Given the description of an element on the screen output the (x, y) to click on. 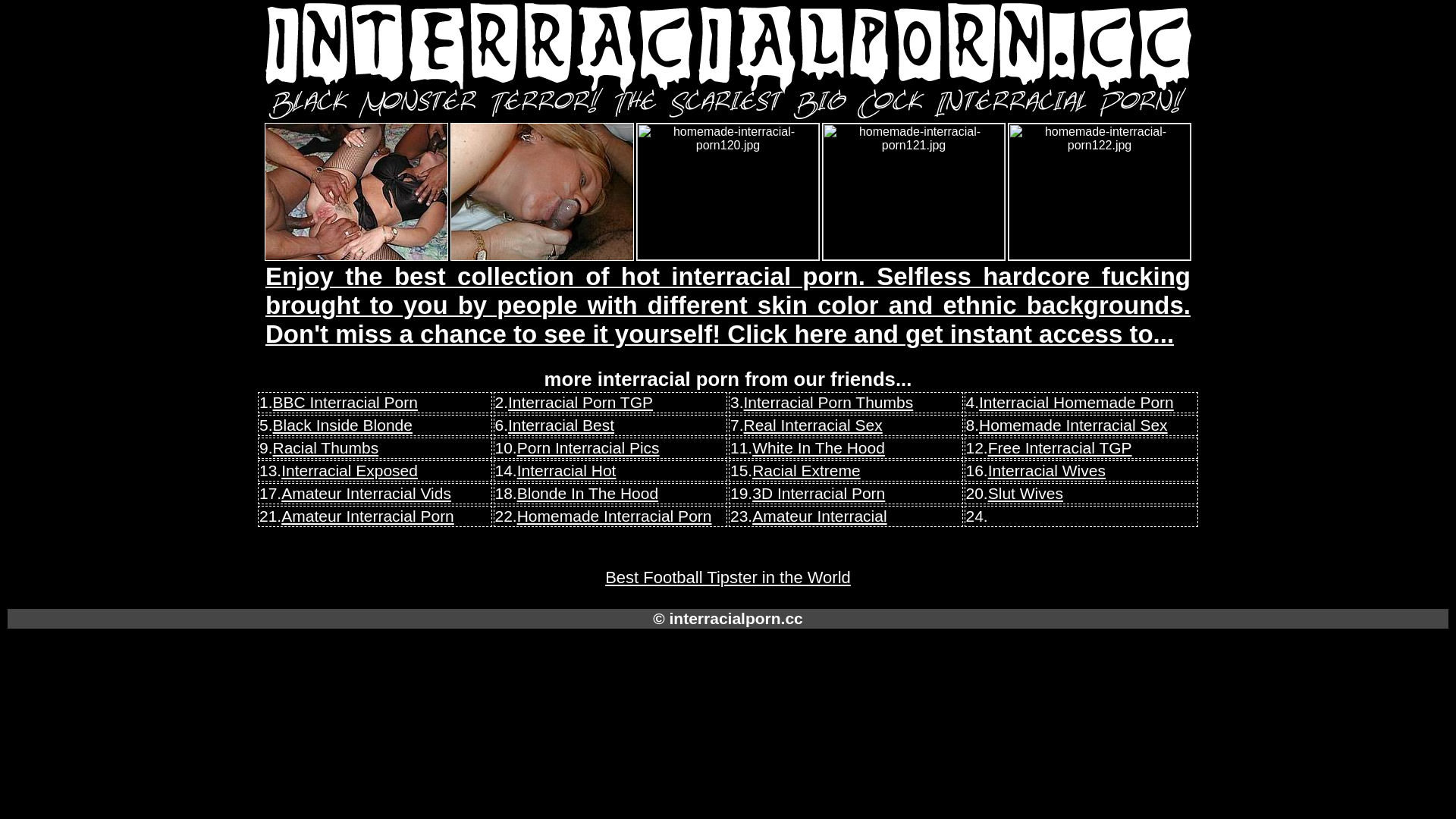
Racial Extreme Element type: text (805, 470)
Real Interracial Sex Element type: text (812, 424)
Interracial Best Element type: text (561, 424)
Interracial Wives Element type: text (1046, 470)
Interracial Porn TGP Element type: text (580, 402)
Blonde In The Hood Element type: text (587, 493)
Interracial Exposed Element type: text (349, 470)
Slut Wives Element type: text (1025, 493)
Porn Interracial Pics Element type: text (588, 447)
Amateur Interracial Element type: text (819, 515)
3D Interracial Porn Element type: text (818, 493)
Interracial Homemade Porn Element type: text (1076, 402)
Interracial Hot Element type: text (566, 470)
Homemade Interracial Sex Element type: text (1073, 424)
Amateur Interracial Vids Element type: text (366, 493)
Racial Thumbs Element type: text (326, 447)
Best Football Tipster in the World Element type: text (727, 576)
Amateur Interracial Porn Element type: text (367, 515)
Interracial Porn Thumbs Element type: text (828, 402)
Homemade Interracial Porn Element type: text (614, 515)
White In The Hood Element type: text (818, 447)
BBC Interracial Porn Element type: text (345, 402)
Black Inside Blonde Element type: text (342, 424)
Free Interracial TGP Element type: text (1060, 447)
